Given the description of an element on the screen output the (x, y) to click on. 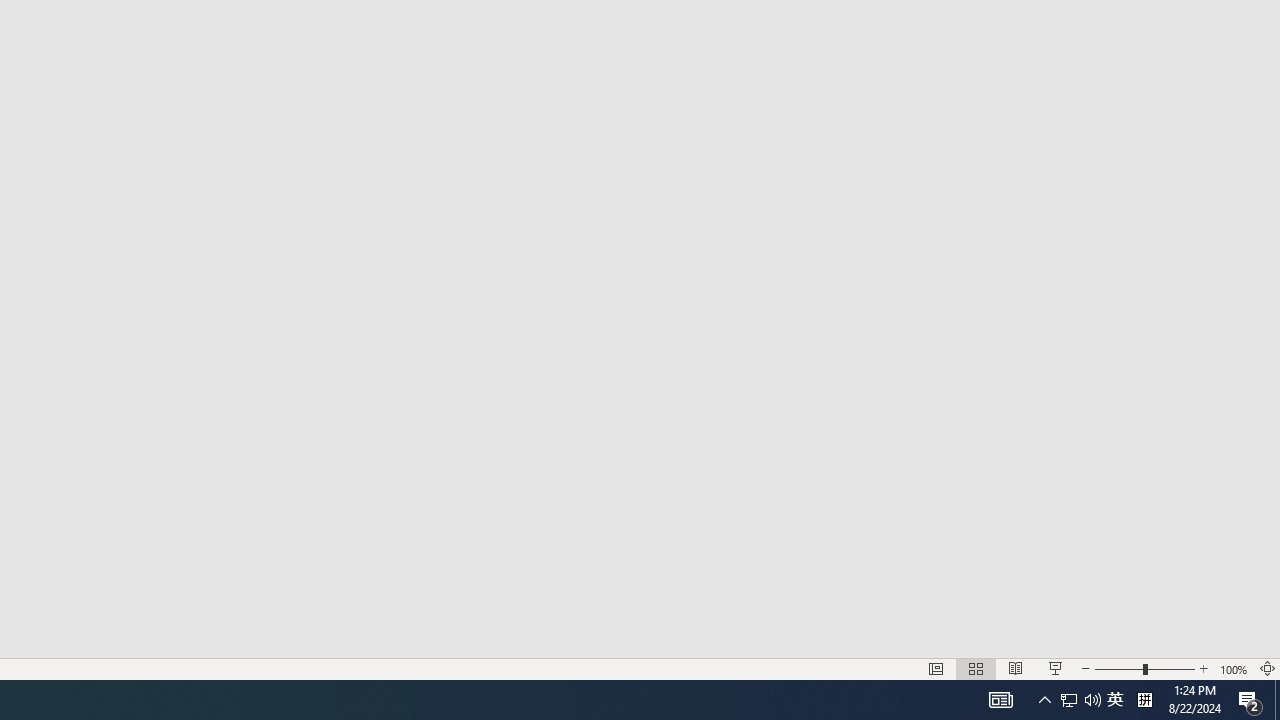
Zoom 100% (1234, 668)
AutomationID: 4105 (1115, 699)
Tray Input Indicator - Chinese (Simplified, China) (1000, 699)
Reading View (1144, 699)
Normal (1015, 668)
Slide Sorter (936, 668)
Slide Show (975, 668)
Zoom Out (1055, 668)
User Promoted Notification Area (1118, 668)
Action Center, 2 new notifications (1080, 699)
Notification Chevron (1069, 699)
Zoom (1250, 699)
